Given the description of an element on the screen output the (x, y) to click on. 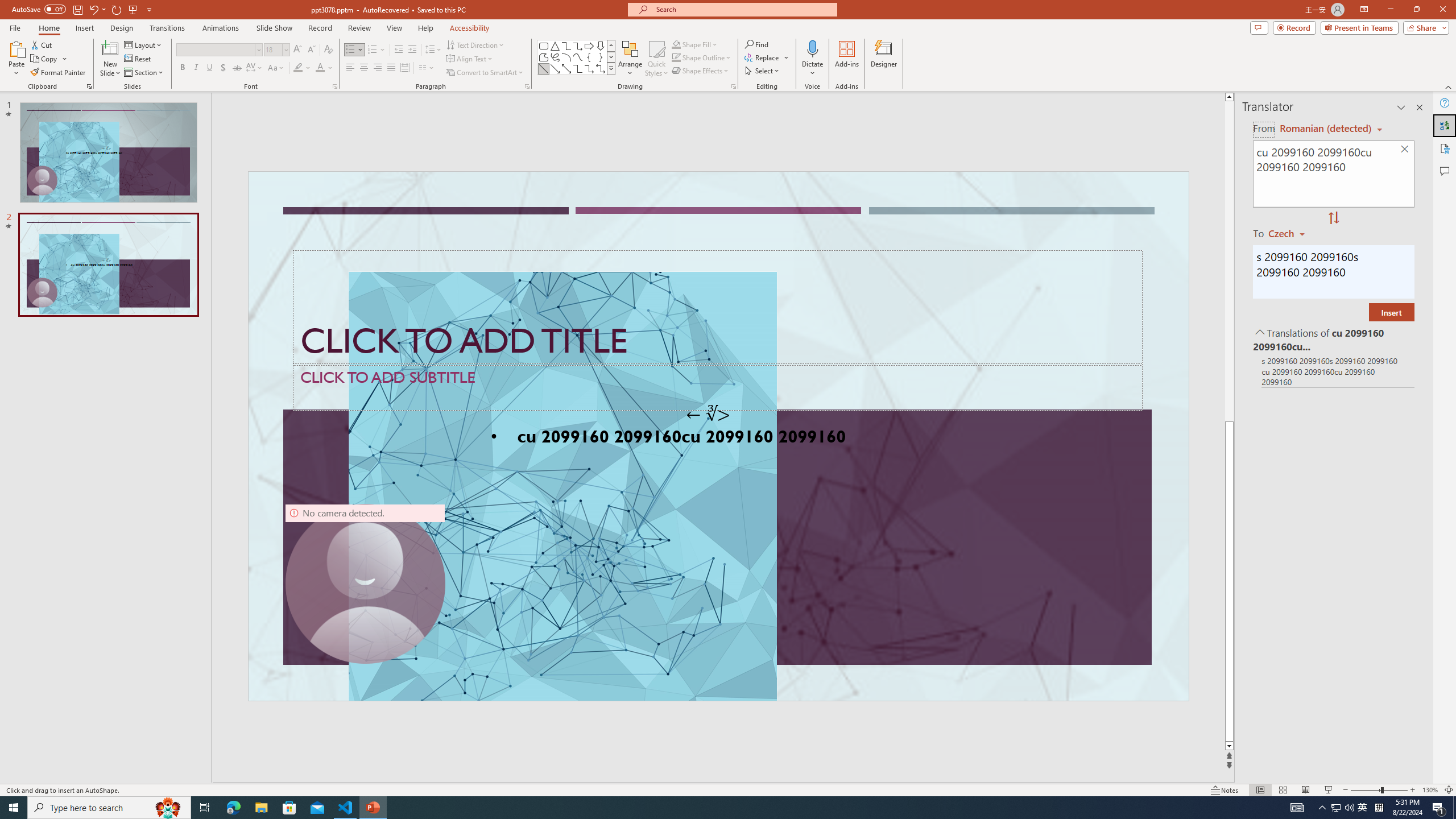
Zoom 130% (1430, 790)
Camera 9, No camera detected. (364, 584)
Connector: Elbow Double-Arrow (600, 68)
